Given the description of an element on the screen output the (x, y) to click on. 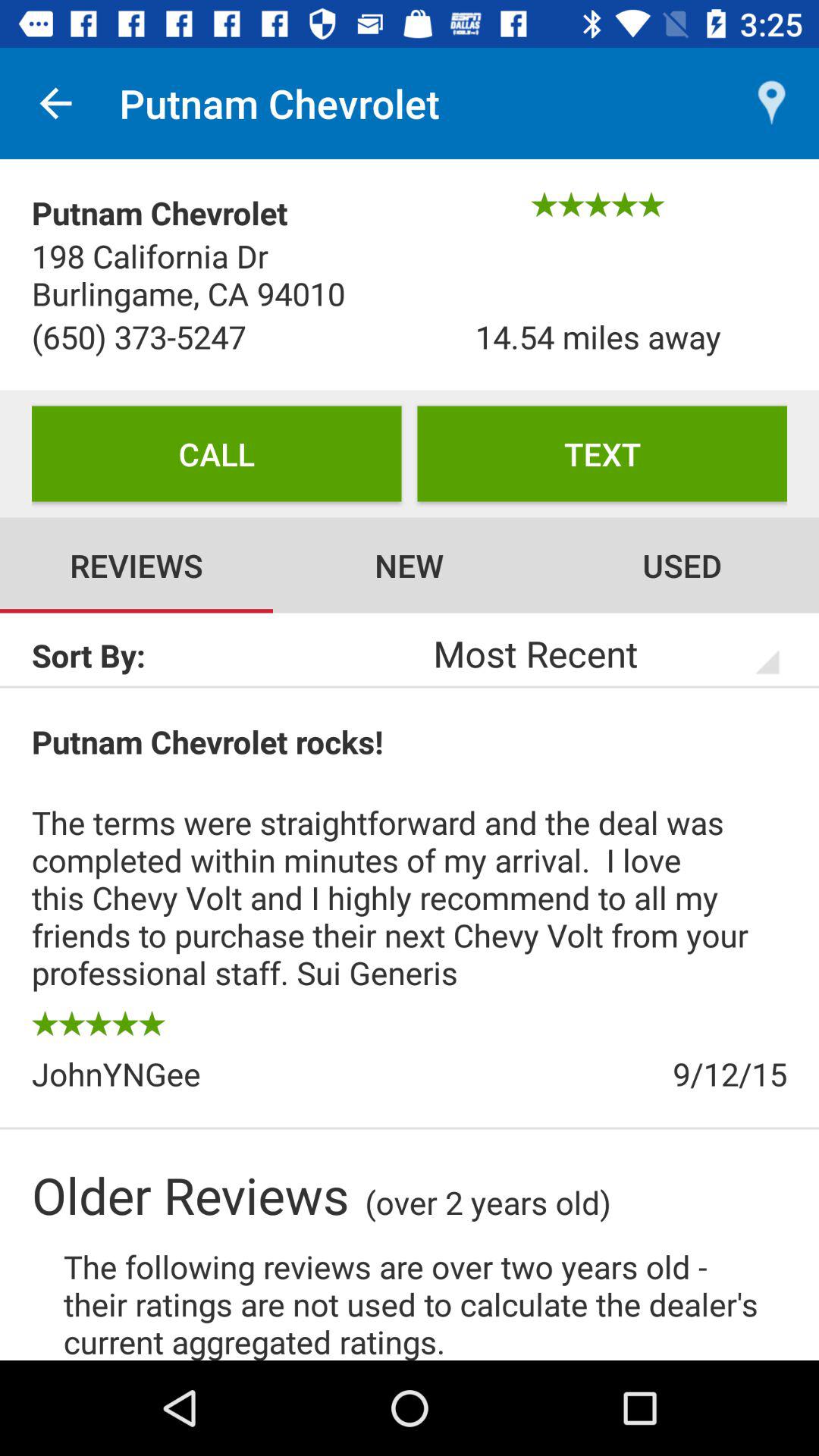
open the icon above over 2 years item (598, 1073)
